Given the description of an element on the screen output the (x, y) to click on. 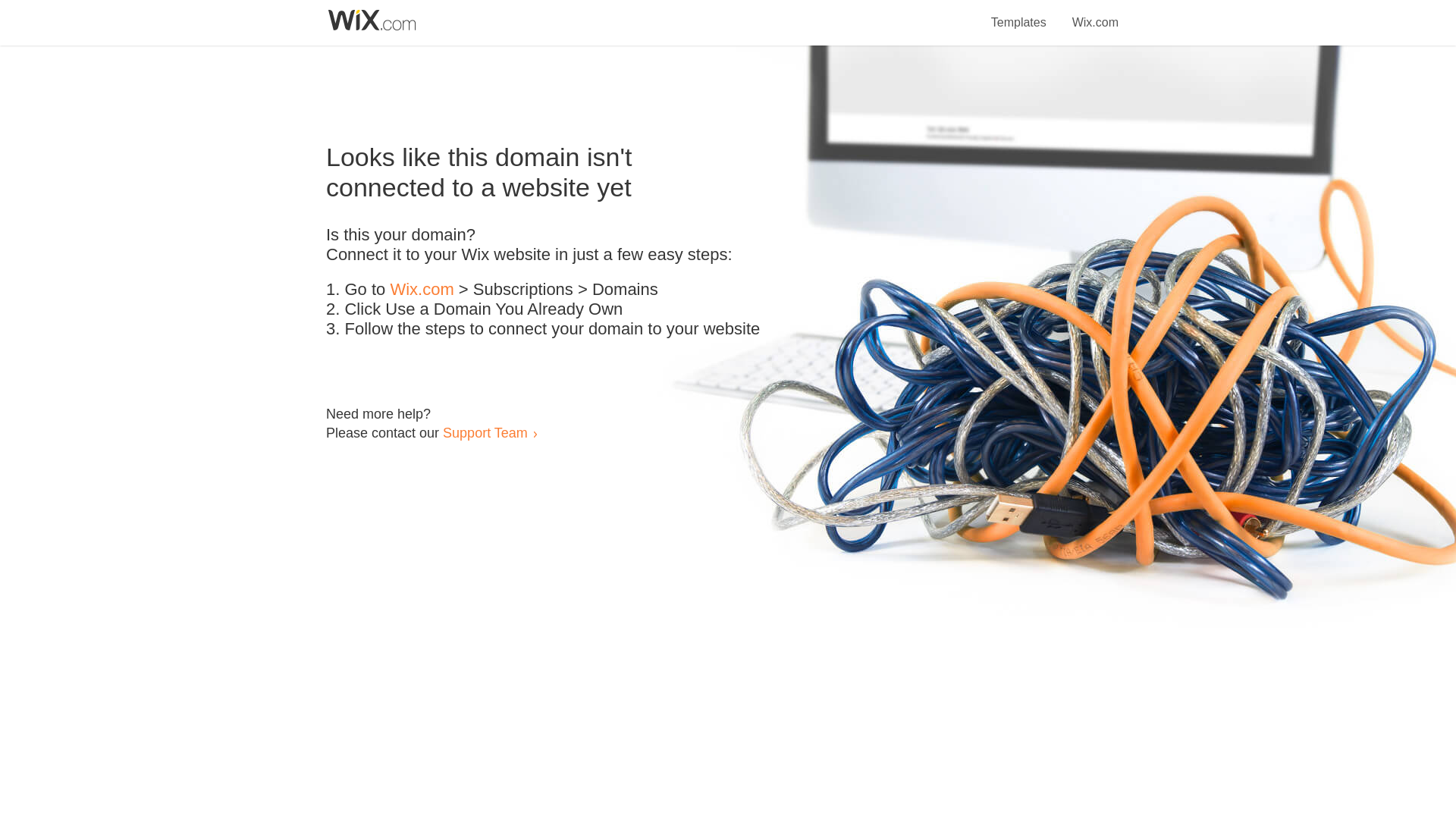
Templates (1018, 14)
Wix.com (1095, 14)
Wix.com (421, 289)
Support Team (484, 432)
